Given the description of an element on the screen output the (x, y) to click on. 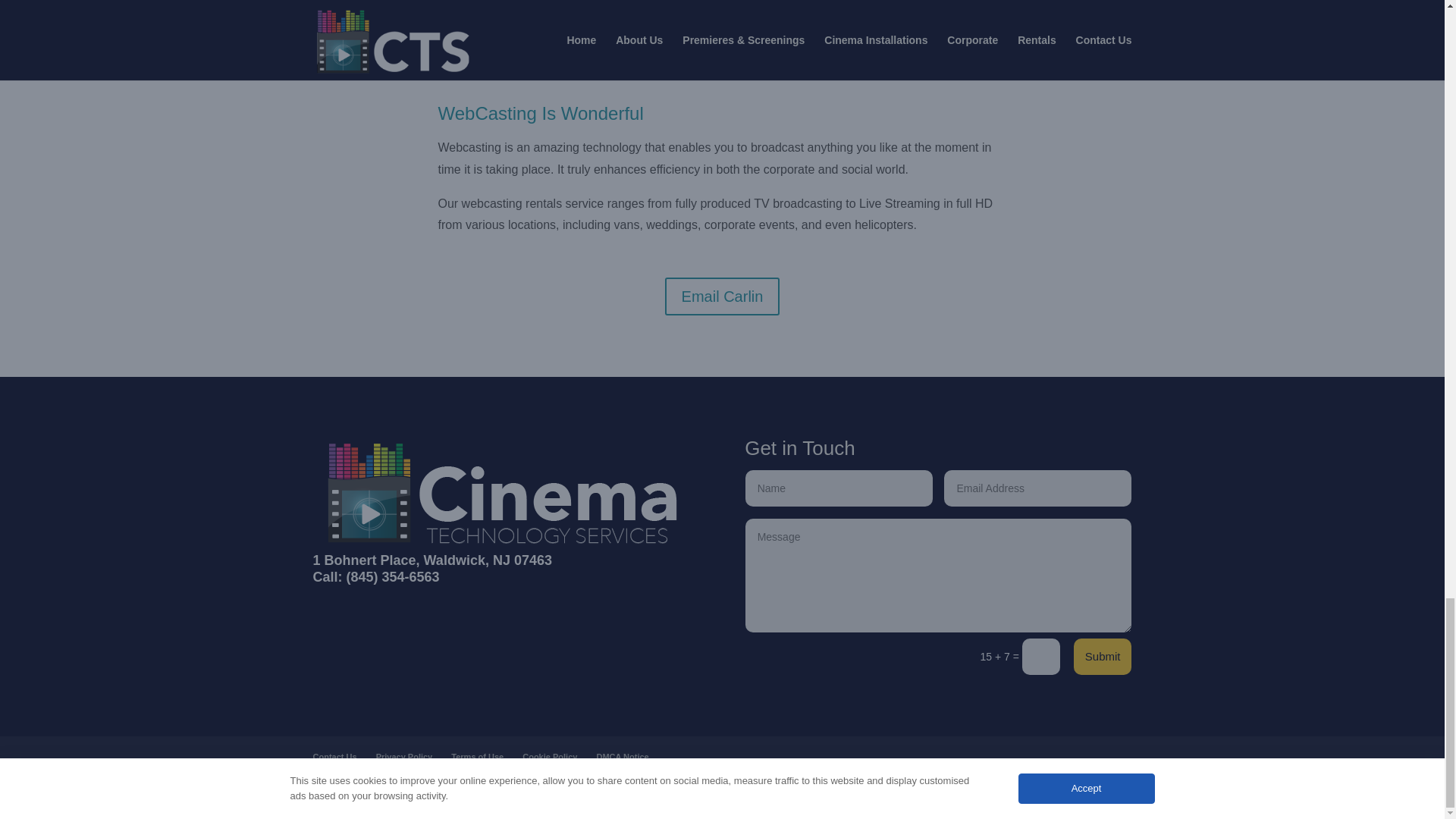
Contact Us (334, 756)
Cookie Policy (549, 756)
Email Carlin (722, 296)
Submit (1103, 656)
Terms of Use (477, 756)
Privacy Policy (403, 756)
DMCA Notice (621, 756)
